Given the description of an element on the screen output the (x, y) to click on. 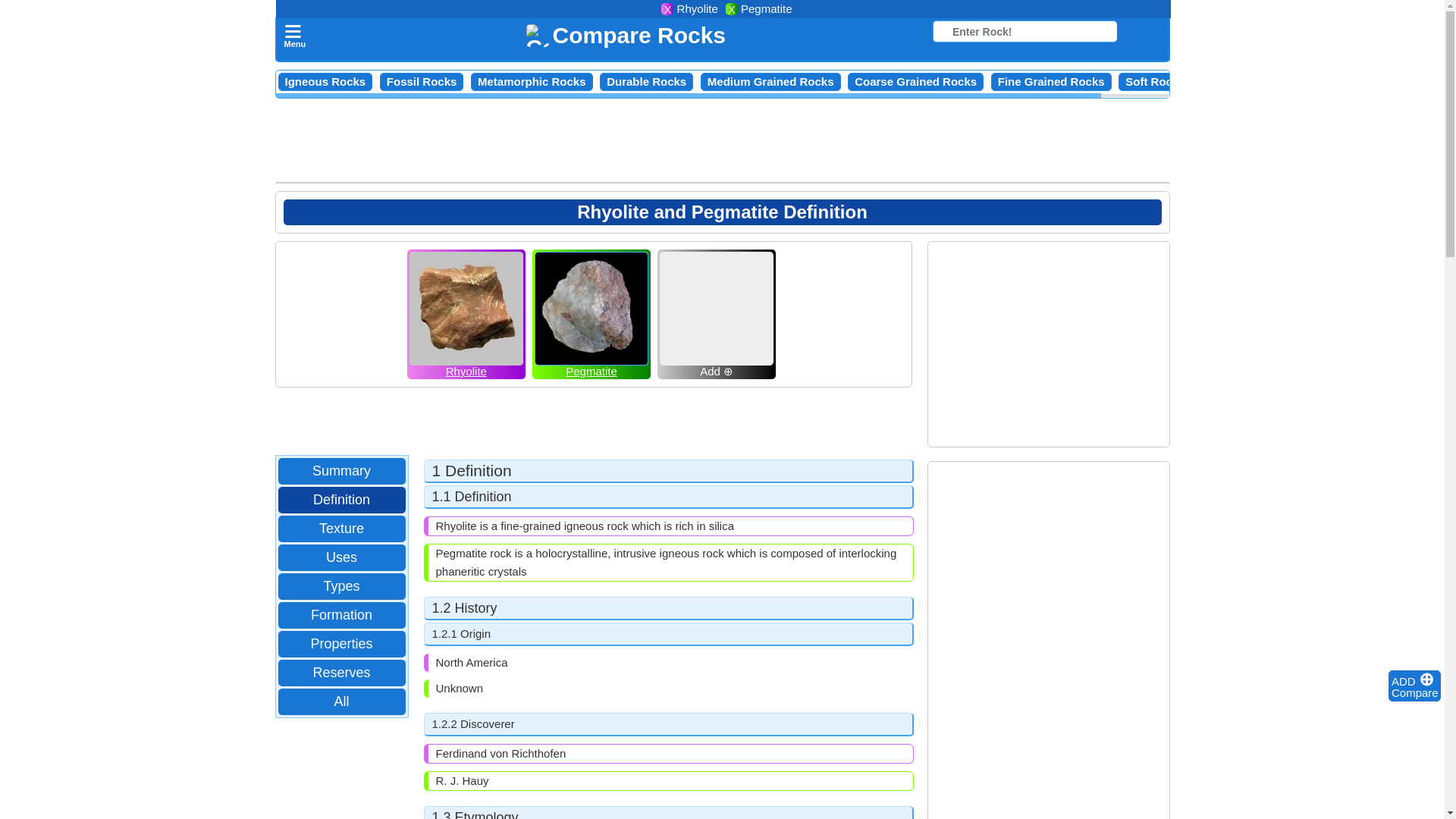
Igneous Rocks (325, 81)
Uses (341, 557)
Pegmatite (591, 369)
Fine Grained Rocks (1051, 81)
Coarse Grained Rocks (915, 81)
Types (340, 586)
Summary (341, 470)
Compare Rocks (625, 35)
Texture (341, 528)
Durable Rocks (646, 81)
Fossil Rocks (422, 81)
Soft Rocks (1155, 81)
Medium Grained Rocks (770, 81)
Metamorphic Rocks (531, 81)
Formation (341, 615)
